Given the description of an element on the screen output the (x, y) to click on. 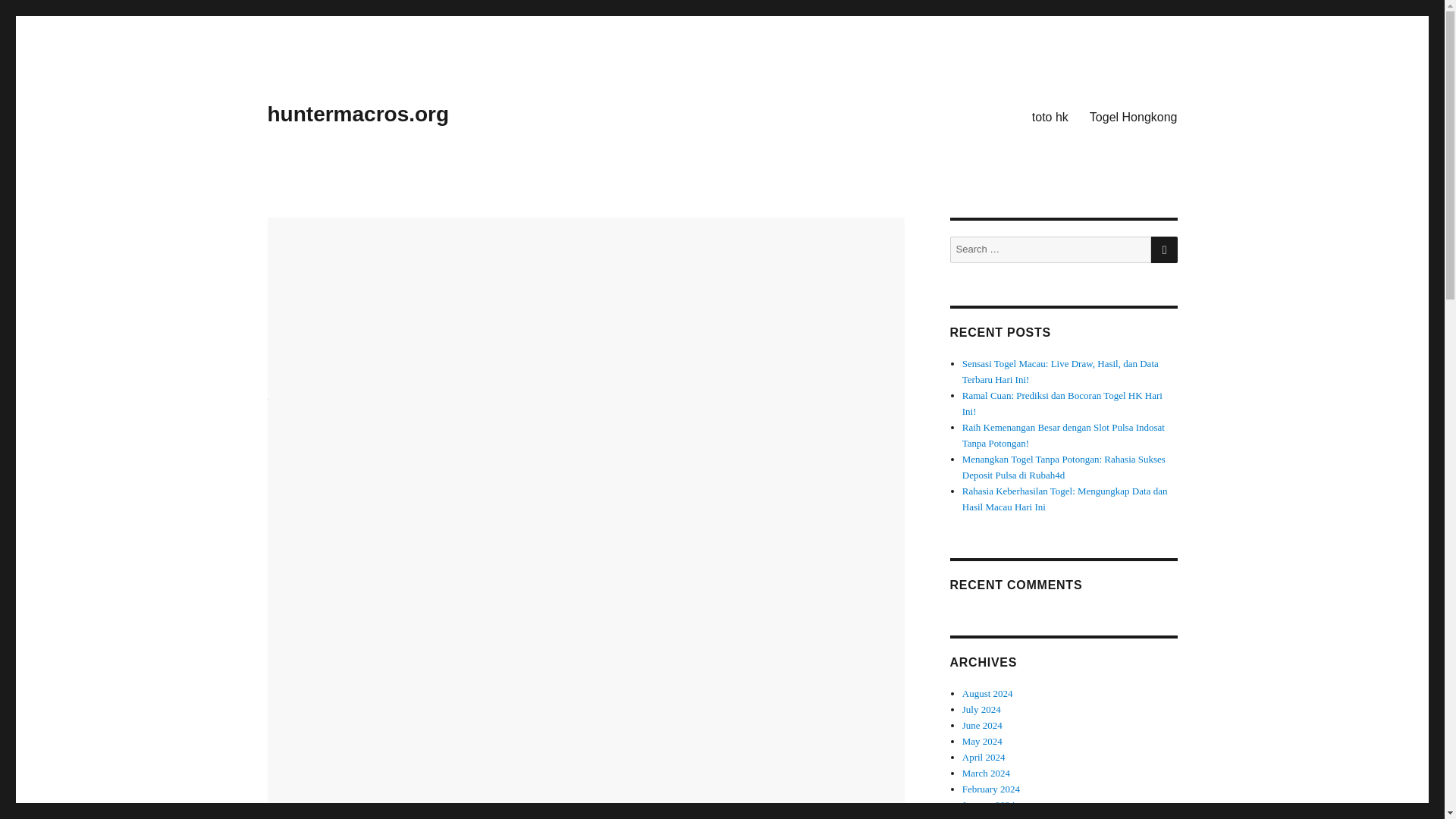
admin (280, 374)
June 2024 (982, 725)
huntermacros.org (357, 114)
January 2024 (988, 804)
July 2024 (981, 708)
toto hk (1050, 116)
April 2024 (984, 756)
December 2023 (993, 816)
